Given the description of an element on the screen output the (x, y) to click on. 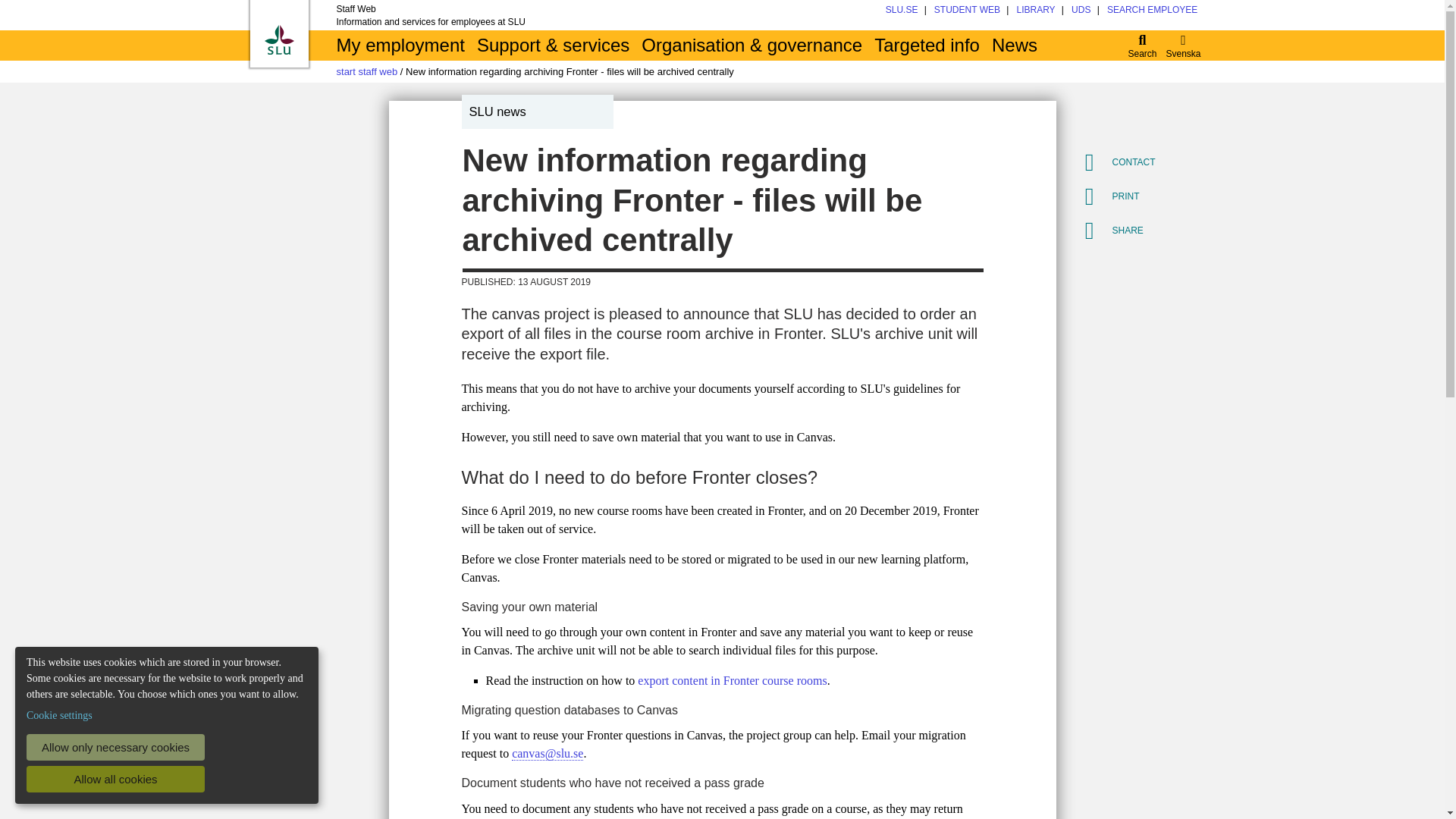
Search (1142, 45)
My employment (400, 45)
Allow all cookies (115, 778)
Allow only necessary cookies (115, 746)
Cookie settings (59, 715)
Svenska (1183, 45)
SEARCH EMPLOYEE (1151, 9)
LIBRARY (1035, 9)
UDS (1080, 9)
Swedish University of Agricultural Sciences logo (278, 39)
SLU.SE (901, 9)
STUDENT WEB (967, 9)
